Given the description of an element on the screen output the (x, y) to click on. 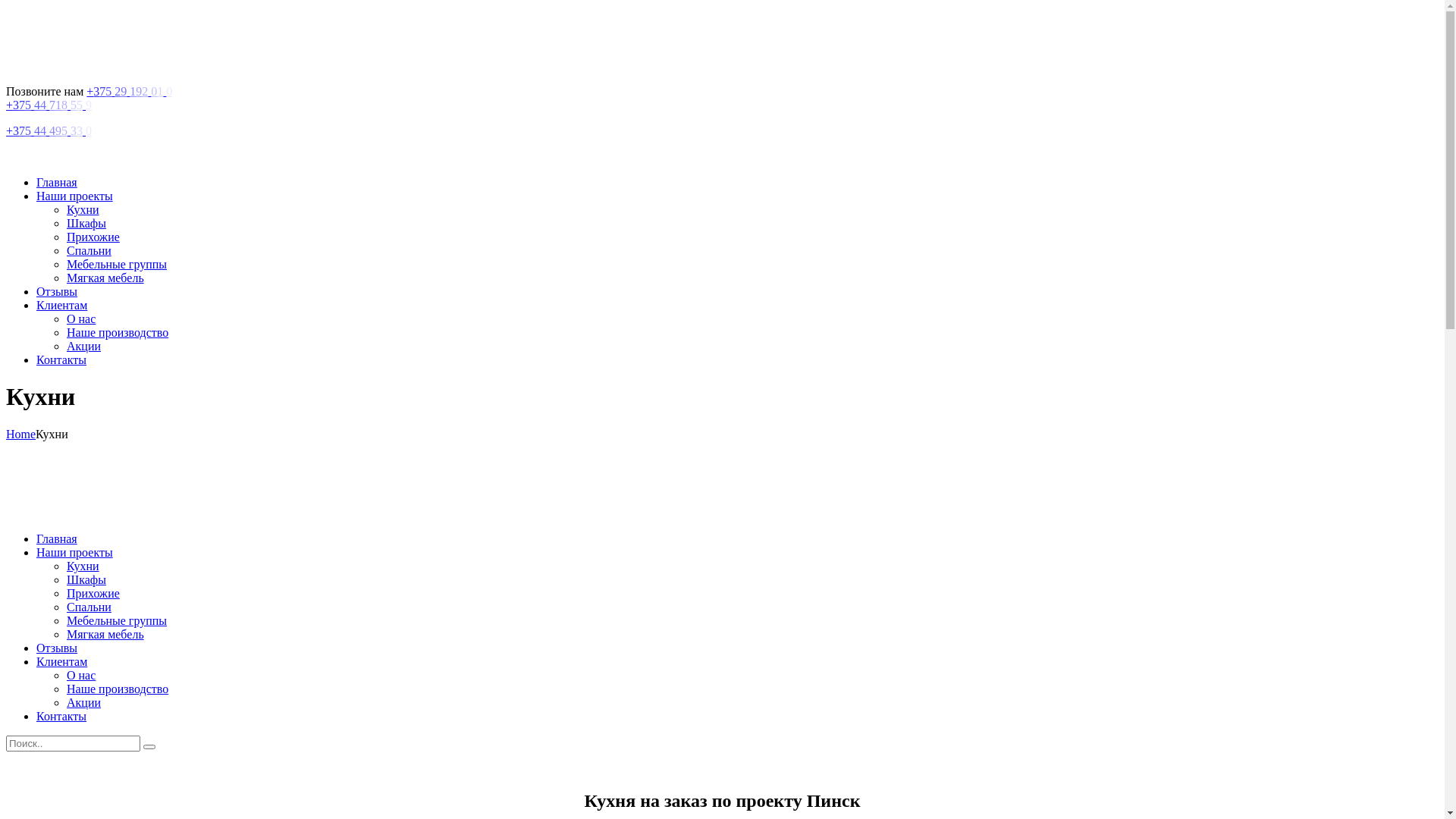
+375 44 718 55 9 Element type: text (51, 104)
+375 44 495 33 0 Element type: text (51, 130)
Home Element type: text (20, 433)
+375 29 192 01 0 Element type: text (132, 90)
Start search Element type: hover (149, 746)
